Given the description of an element on the screen output the (x, y) to click on. 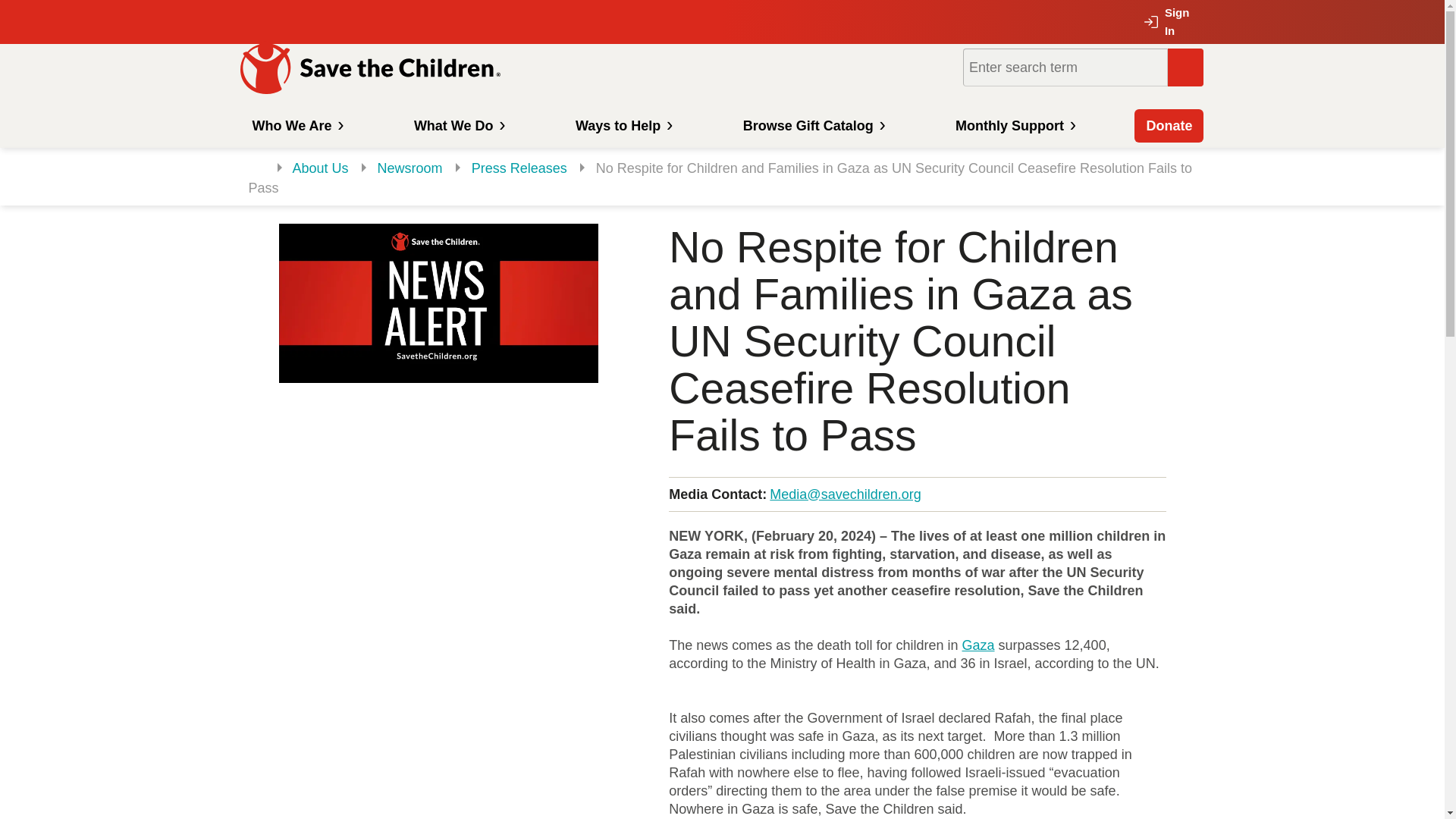
What We Do (458, 125)
Ways to Help (621, 125)
Search (1185, 67)
Save the Children Breaking News Graphic (438, 303)
Sign In (1172, 22)
Search (1185, 67)
Monthly Support (1013, 125)
Enter the terms you wish to search for. (1064, 67)
Browse Gift Catalog (812, 125)
Donate to Help Children in West Bank and Gaza (978, 645)
Who We Are (295, 125)
